Given the description of an element on the screen output the (x, y) to click on. 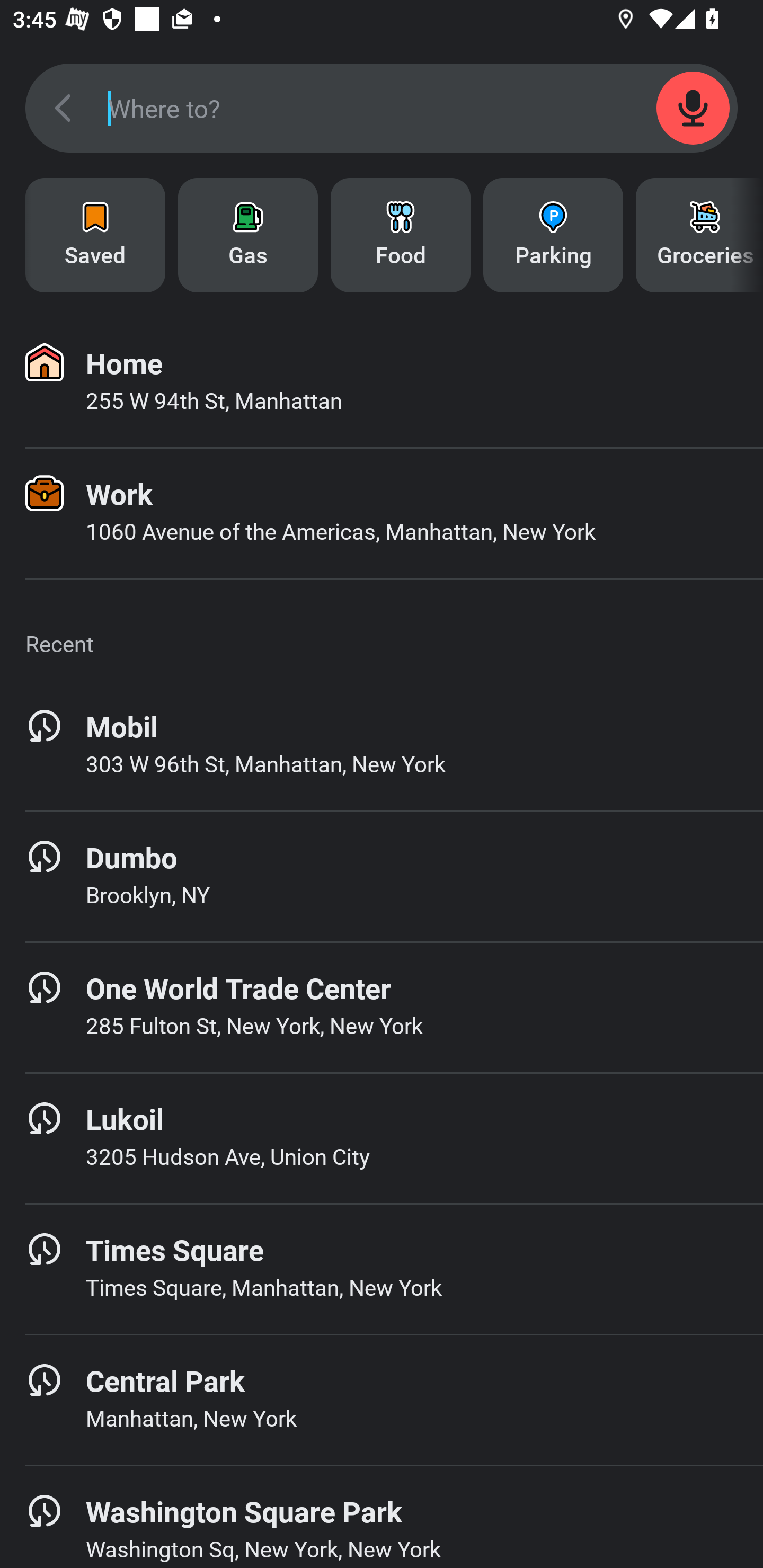
SEARCH_SCREEN_SEARCH_FIELD Where to? (381, 108)
Saved (95, 234)
Gas (247, 234)
Food (400, 234)
Parking (552, 234)
Groceries (699, 234)
Home 255 W 94th St, Manhattan (381, 382)
Mobil 303 W 96th St, Manhattan, New York (381, 745)
Dumbo Brooklyn, NY (381, 876)
Lukoil 3205 Hudson Ave, Union City (381, 1138)
Times Square Times Square, Manhattan, New York (381, 1269)
Central Park Manhattan, New York (381, 1399)
